Given the description of an element on the screen output the (x, y) to click on. 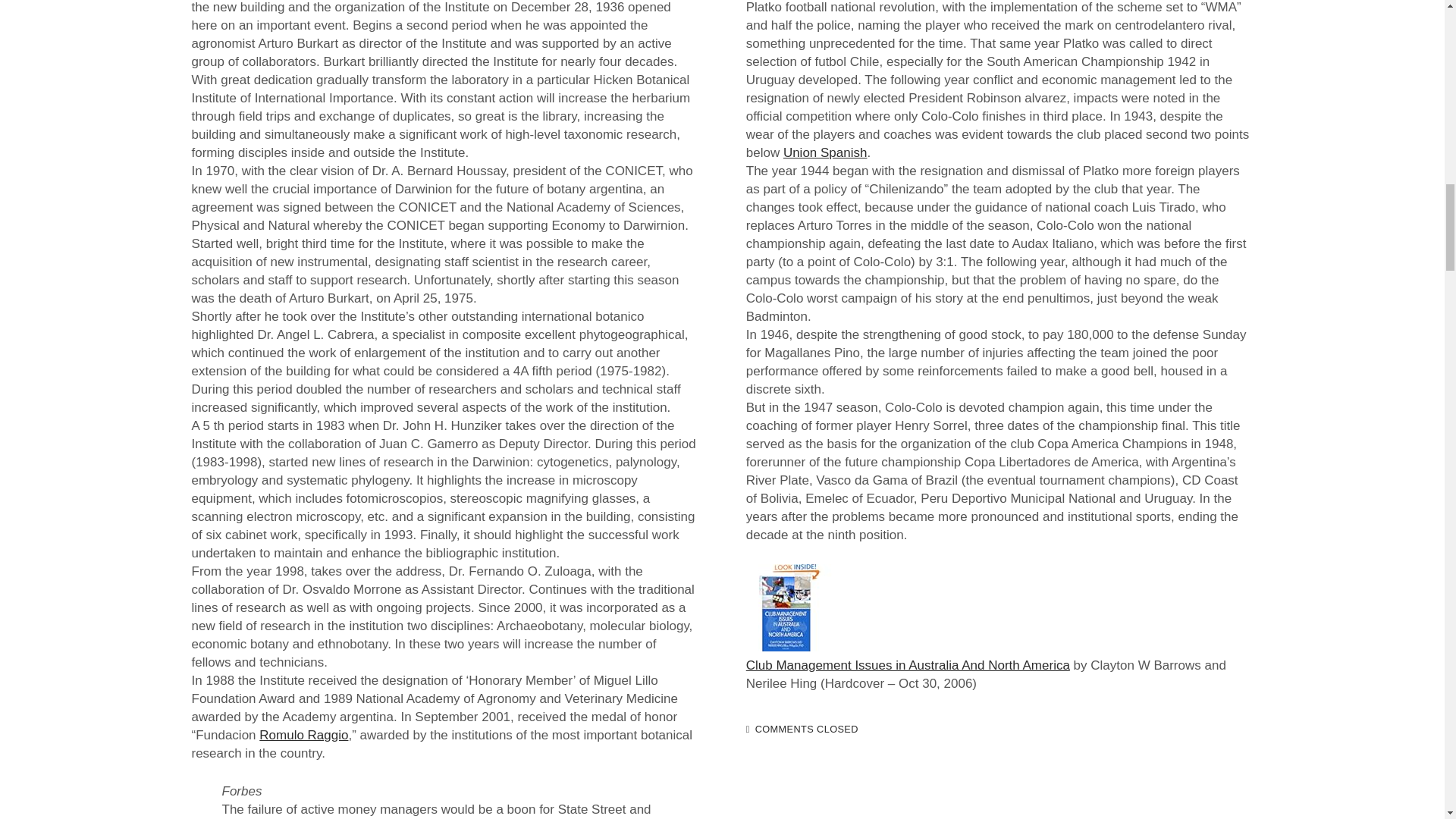
Club Management Issues in Australia And North America (907, 665)
Romulo Raggio (303, 735)
Union Spanish (825, 152)
